Given the description of an element on the screen output the (x, y) to click on. 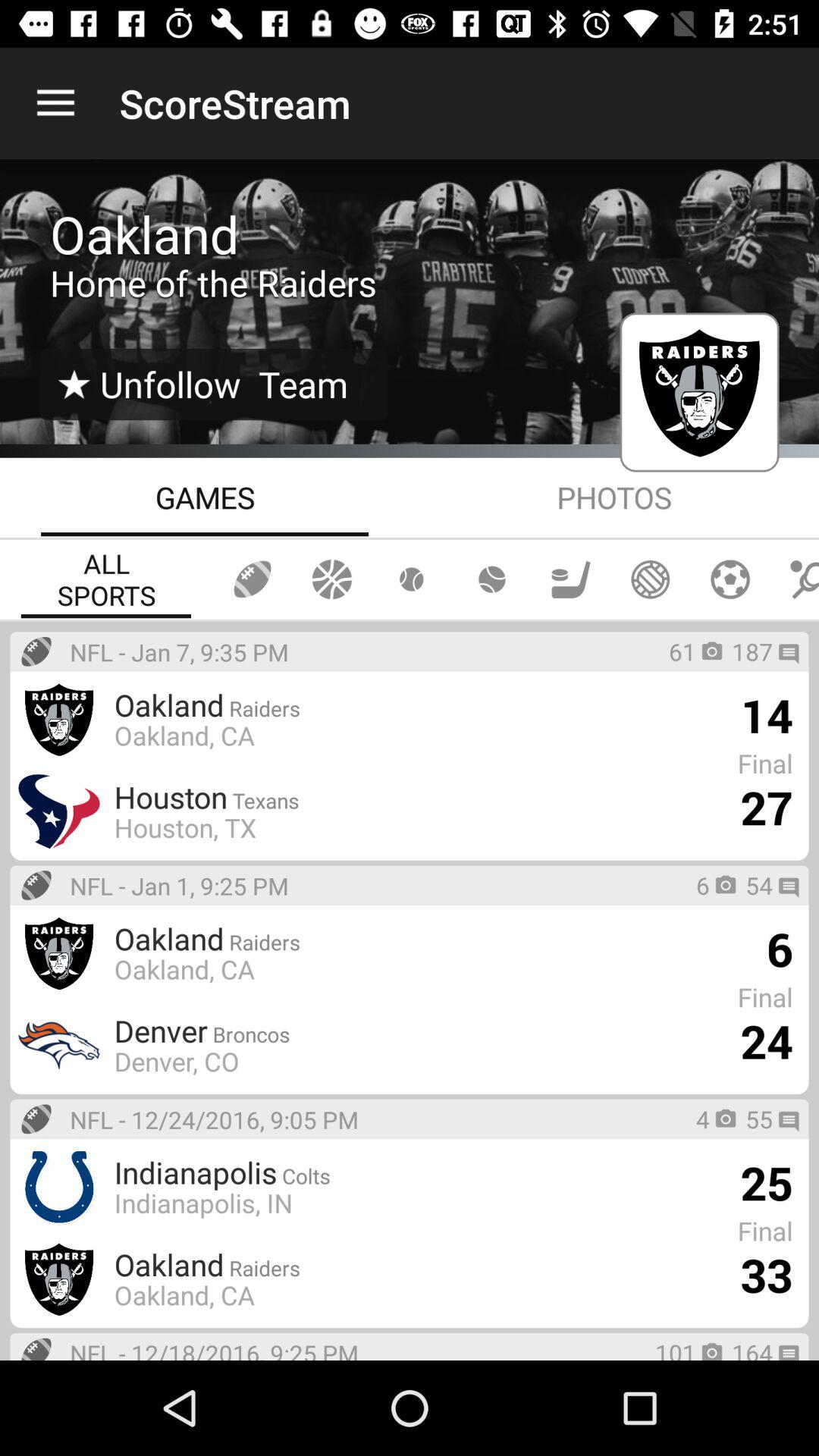
press icon below oakland, ca app (362, 1030)
